Given the description of an element on the screen output the (x, y) to click on. 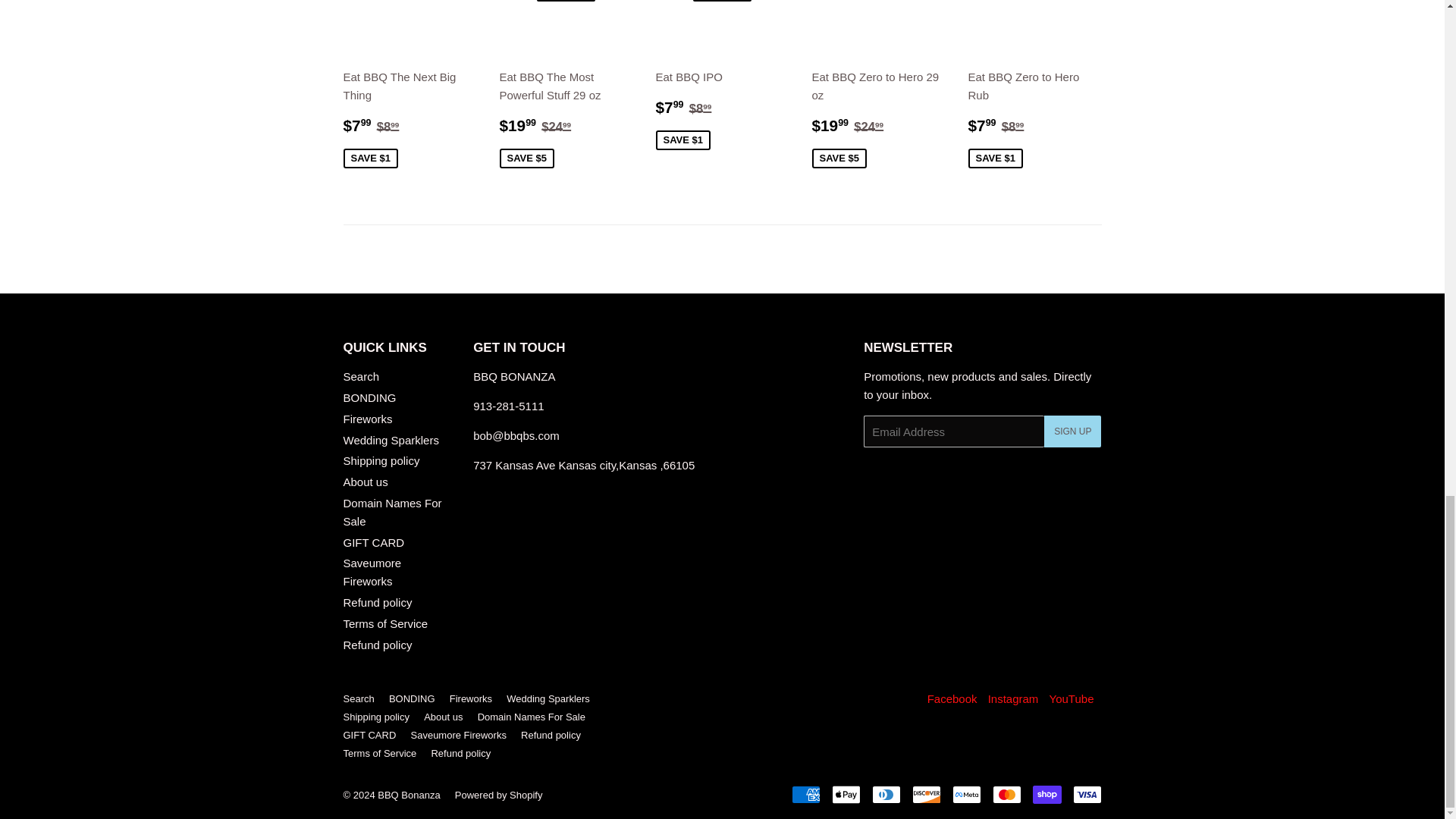
Mastercard (1005, 794)
Diners Club (886, 794)
Shop Pay (1046, 794)
BBQ Bonanza on Instagram (1013, 698)
Apple Pay (845, 794)
Meta Pay (966, 794)
Visa (1085, 794)
American Express (806, 794)
BBQ Bonanza on Facebook (951, 698)
BBQ Bonanza on YouTube (1071, 698)
